Given the description of an element on the screen output the (x, y) to click on. 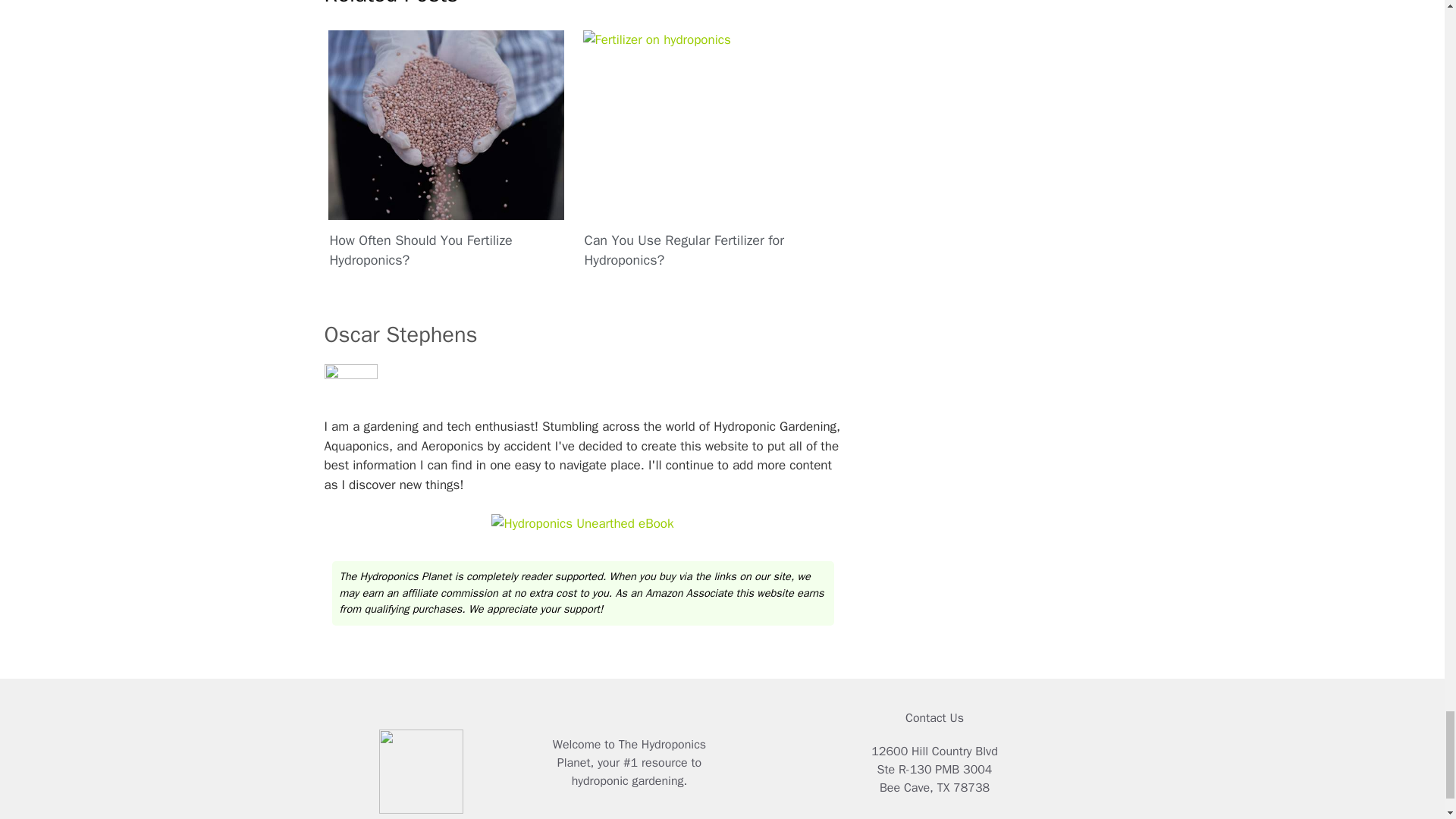
Oscar Stephens (400, 334)
All posts by Oscar Stephens (400, 334)
How Often Should You Fertilize Hydroponics? (445, 153)
How Often Should You Fertilize Hydroponics? (445, 153)
Can You Use Regular Fertilizer for Hydroponics? (705, 153)
Can You Use Regular Fertilizer for Hydroponics? (705, 153)
